Given the description of an element on the screen output the (x, y) to click on. 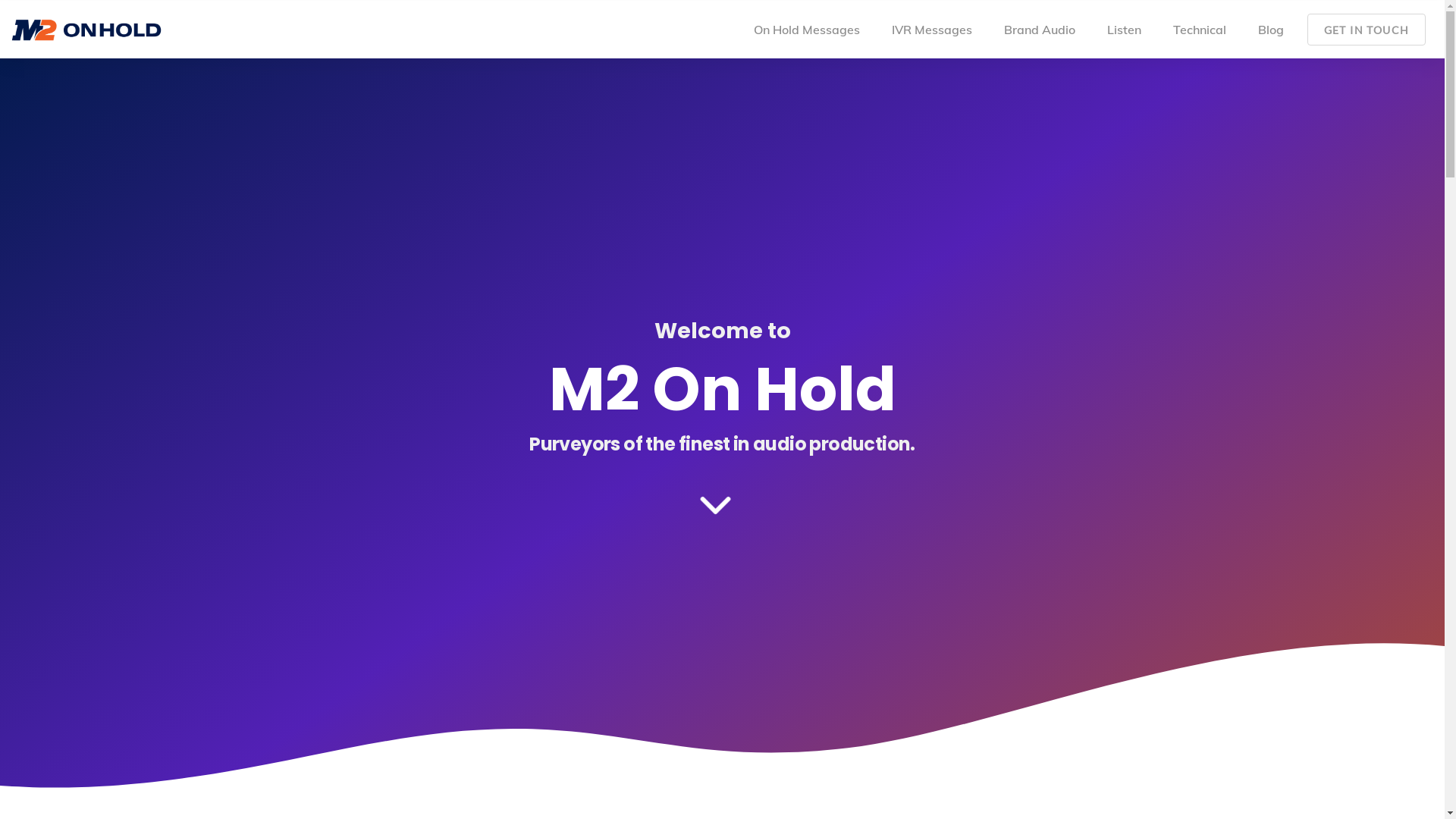
1800 802 822 Element type: text (1117, 694)
CommTrak CRM Element type: text (888, 644)
CREATIVE CANARY Element type: text (1100, 785)
onquevision Element type: text (900, 671)
sales@m2onhold.com.au Element type: text (1089, 669)
Listen Element type: text (1124, 29)
Blog Element type: text (1270, 29)
Privacy Policy Element type: text (603, 785)
On Hold Messages Element type: text (806, 29)
Terms & Conditions Element type: text (507, 785)
M2 Technology Element type: text (892, 618)
Technical Element type: text (1199, 29)
GET IN TOUCH Element type: text (1366, 29)
IVR Messages Element type: text (931, 29)
M2-Logo-01-1 Element type: hover (384, 559)
Brand Audio Element type: text (1039, 29)
11a Aldous Place,
Booragoon WA 6154 Element type: text (1099, 632)
